Given the description of an element on the screen output the (x, y) to click on. 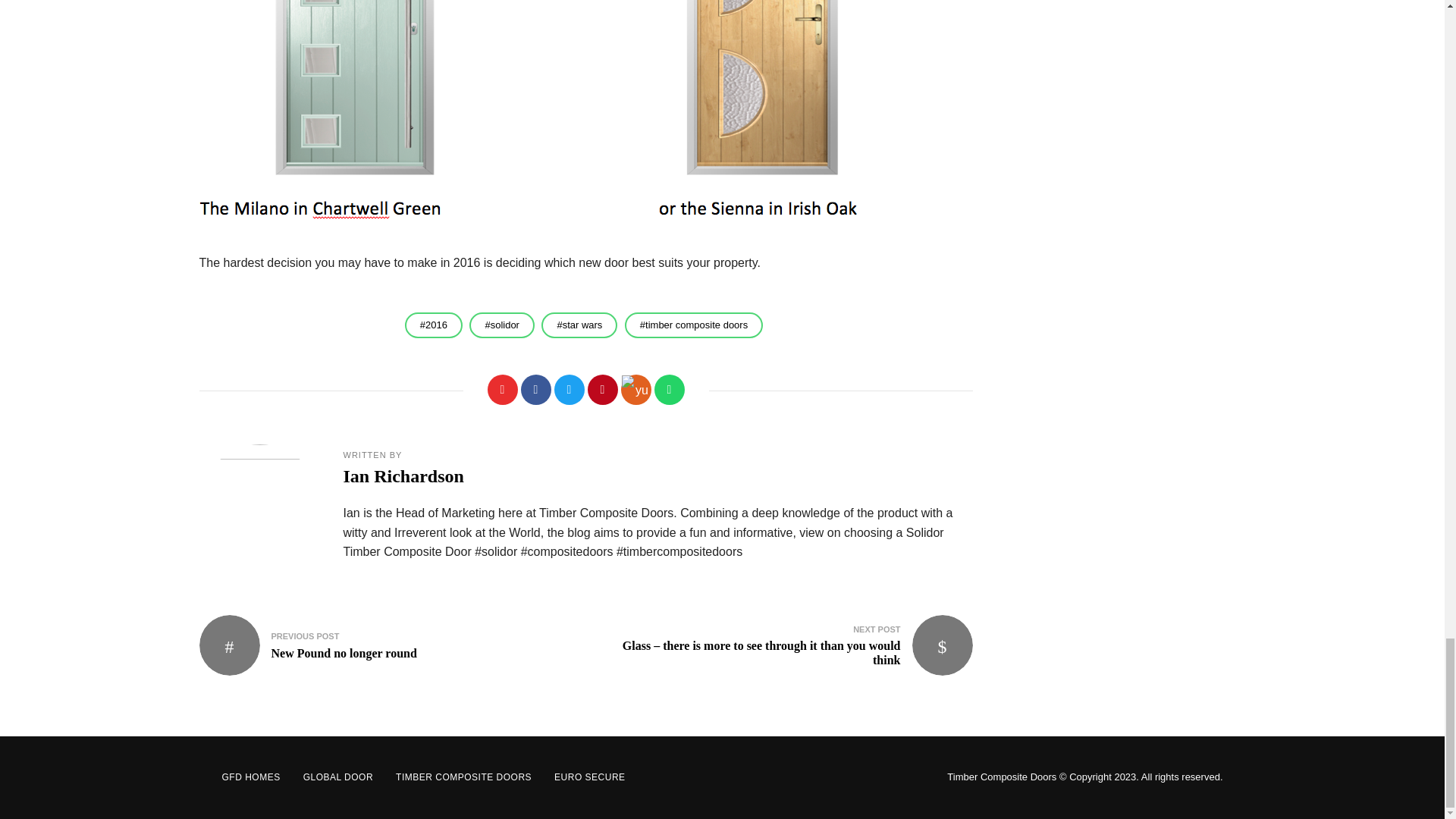
WhatsApp (668, 389)
Twitter (568, 389)
star wars (579, 325)
2016 (433, 325)
Like (501, 389)
Ian Richardson (402, 476)
Facebook (534, 389)
timber composite doors (693, 325)
Yummly (384, 645)
solidor (635, 389)
Pinterest (501, 325)
